Given the description of an element on the screen output the (x, y) to click on. 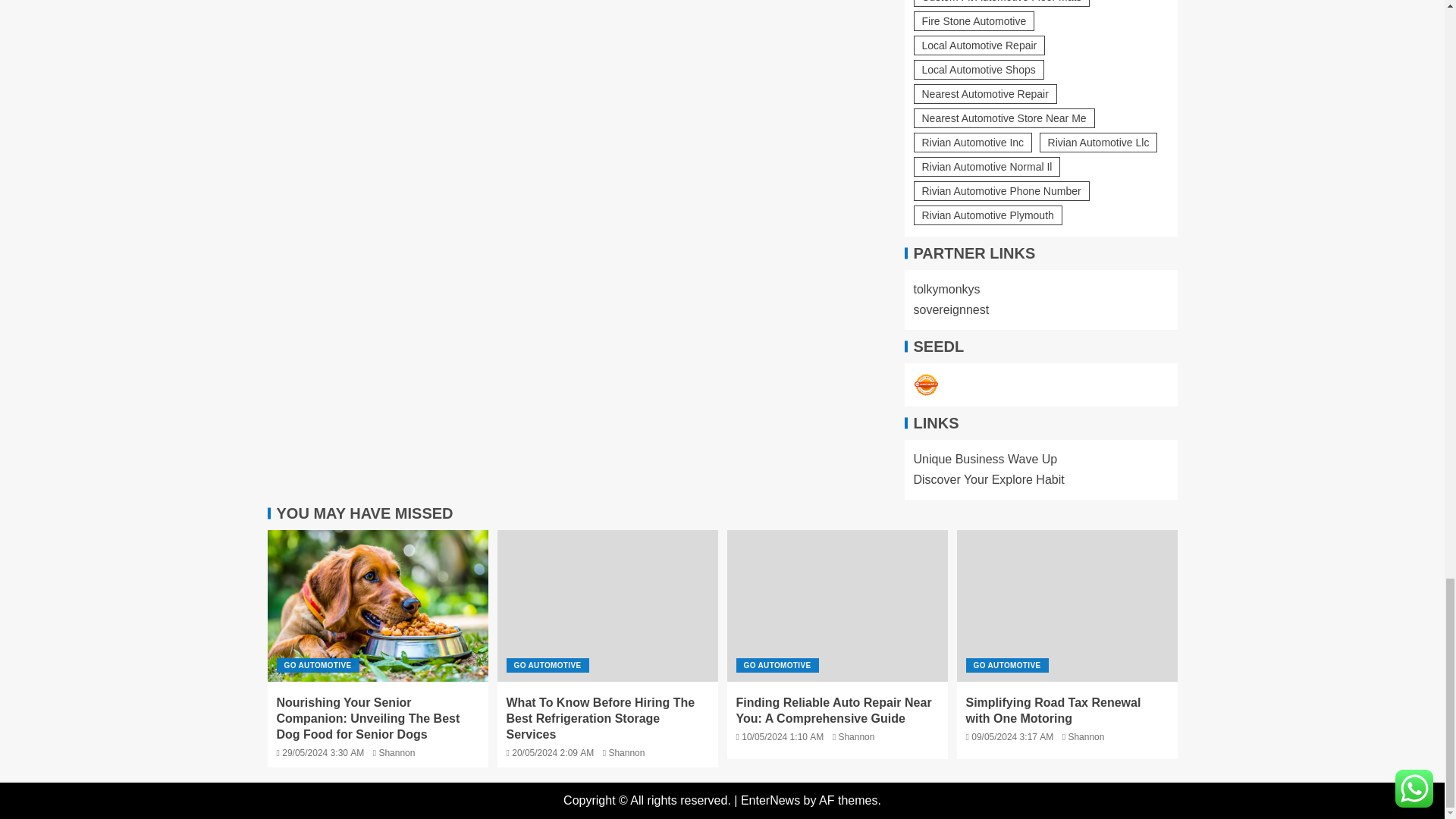
Seedbacklink (925, 385)
